Given the description of an element on the screen output the (x, y) to click on. 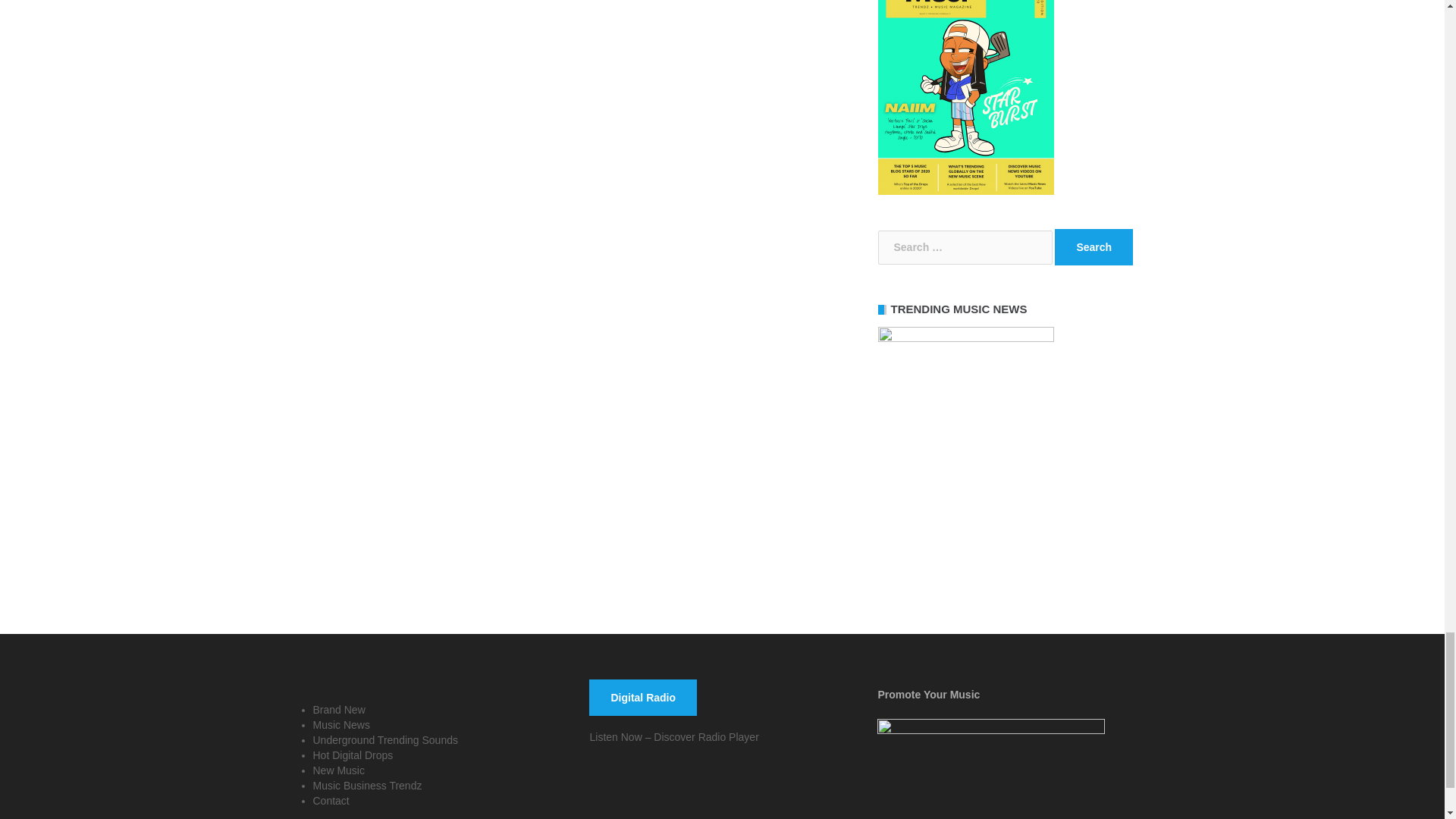
Digital Radio (643, 697)
Search (1093, 247)
Search (1093, 247)
